Given the description of an element on the screen output the (x, y) to click on. 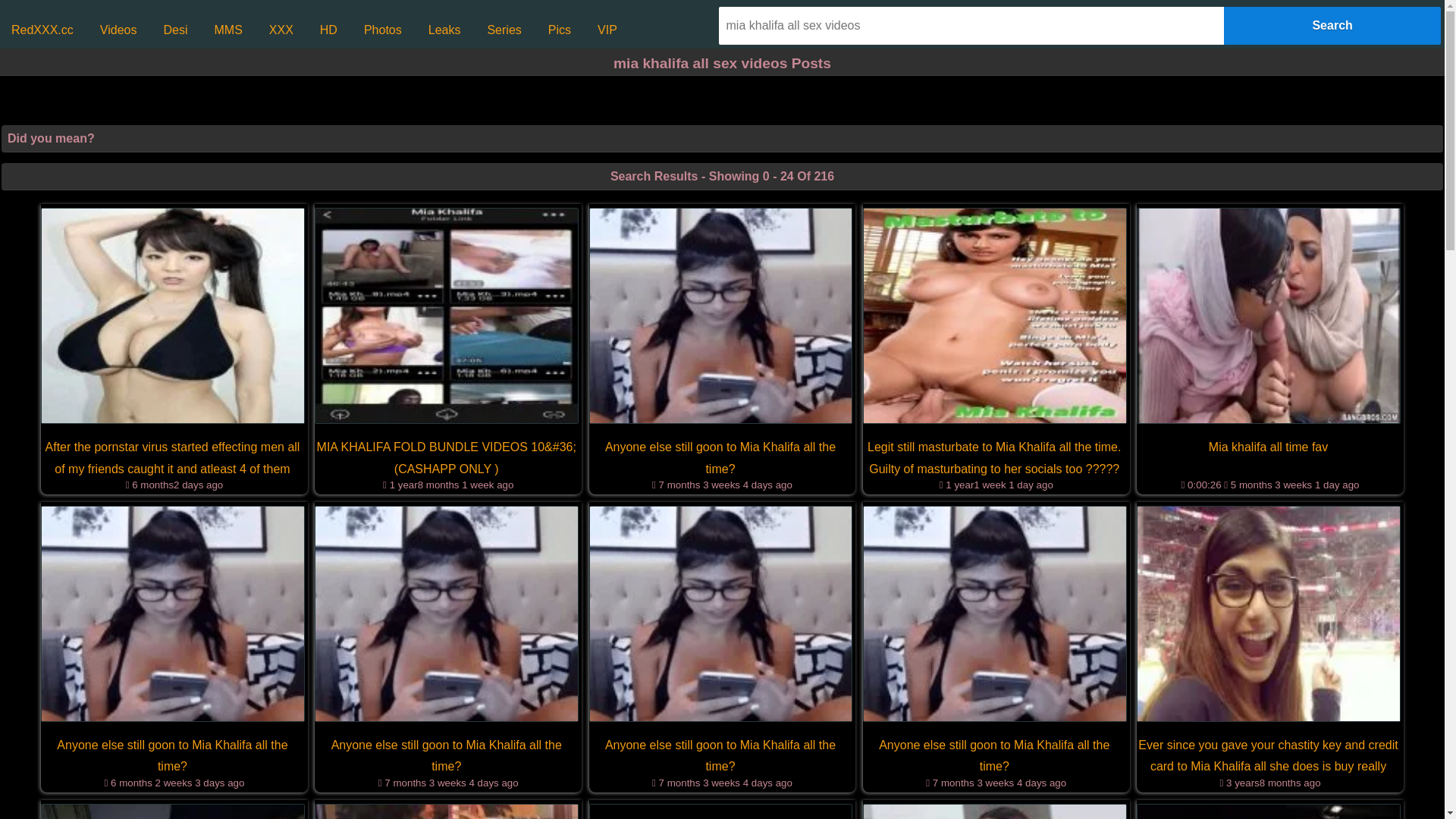
Photos Element type: text (382, 29)
MMS Element type: text (227, 29)
MIA KHALIFA FOLD BUNDLE VIDEOS 10&#36; (CASHAPP ONLY ) Element type: text (445, 458)
Search Element type: text (1331, 25)
Series Element type: text (503, 29)
Anyone else still goon to Mia Khalifa all the time? Element type: text (172, 756)
HD Element type: text (328, 29)
Anyone else still goon to Mia Khalifa all the time? Element type: text (994, 756)
VIP Element type: text (606, 29)
Anyone else still goon to Mia Khalifa all the time? Element type: text (720, 458)
Anyone else still goon to Mia Khalifa all the time? Element type: text (445, 756)
Mia khalifa all time fav from mia khalifa all sex videos Element type: hover (1268, 315)
Mia khalifa all time fav from mia khalifa all sex videos Element type: hover (1268, 318)
RedXXX.cc Element type: text (42, 29)
Leaks Element type: text (444, 29)
Mia khalifa all time fav Element type: text (1267, 447)
Anyone else still goon to Mia Khalifa all the time? Element type: text (720, 756)
Pics Element type: text (559, 29)
Videos Element type: text (118, 29)
Desi Element type: text (174, 29)
XXX Element type: text (281, 29)
